Given the description of an element on the screen output the (x, y) to click on. 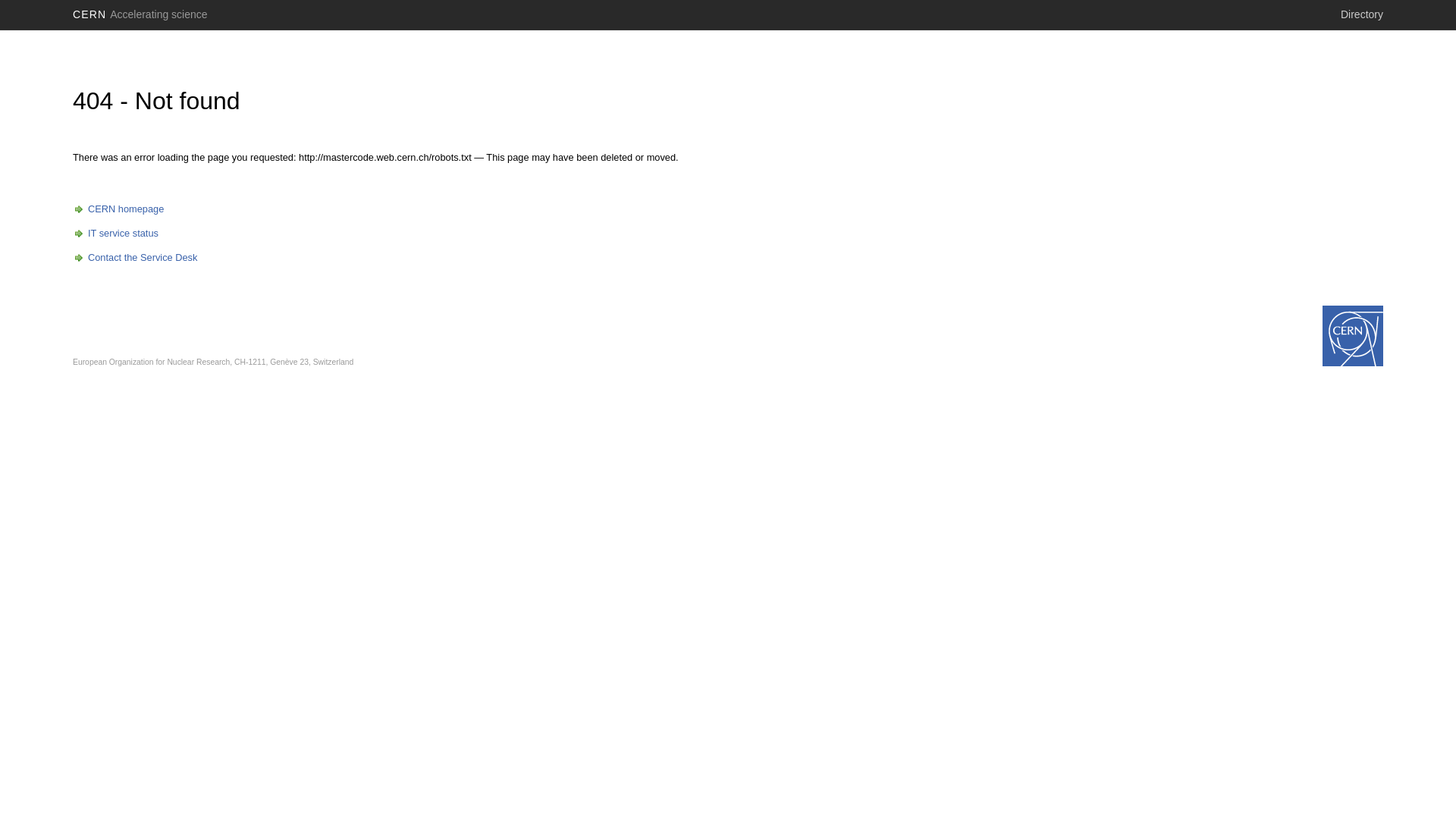
IT service status Element type: text (115, 232)
Directory Element type: text (1361, 14)
CERN Accelerating science Element type: text (139, 14)
www.cern.ch Element type: hover (1352, 335)
CERN homepage Element type: text (117, 208)
Contact the Service Desk Element type: text (134, 257)
